Given the description of an element on the screen output the (x, y) to click on. 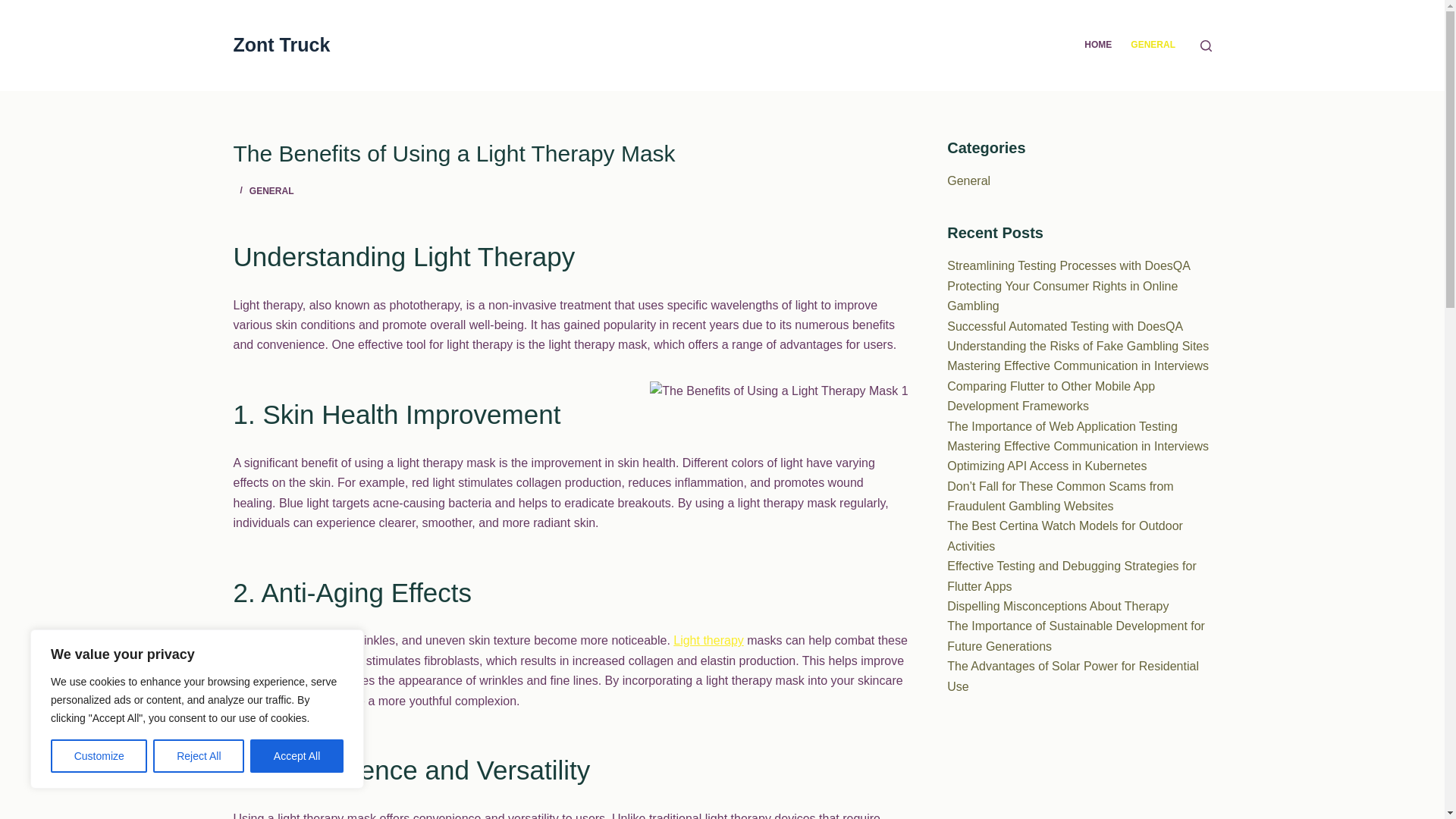
Comparing Flutter to Other Mobile App Development Frameworks (1050, 396)
Mastering Effective Communication in Interviews (1077, 365)
Streamlining Testing Processes with DoesQA (1069, 265)
General (968, 180)
Reject All (198, 756)
Customize (98, 756)
Understanding the Risks of Fake Gambling Sites (1077, 345)
Light therapy (708, 640)
Successful Automated Testing with DoesQA (1064, 326)
Protecting Your Consumer Rights in Online Gambling (1062, 296)
